Given the description of an element on the screen output the (x, y) to click on. 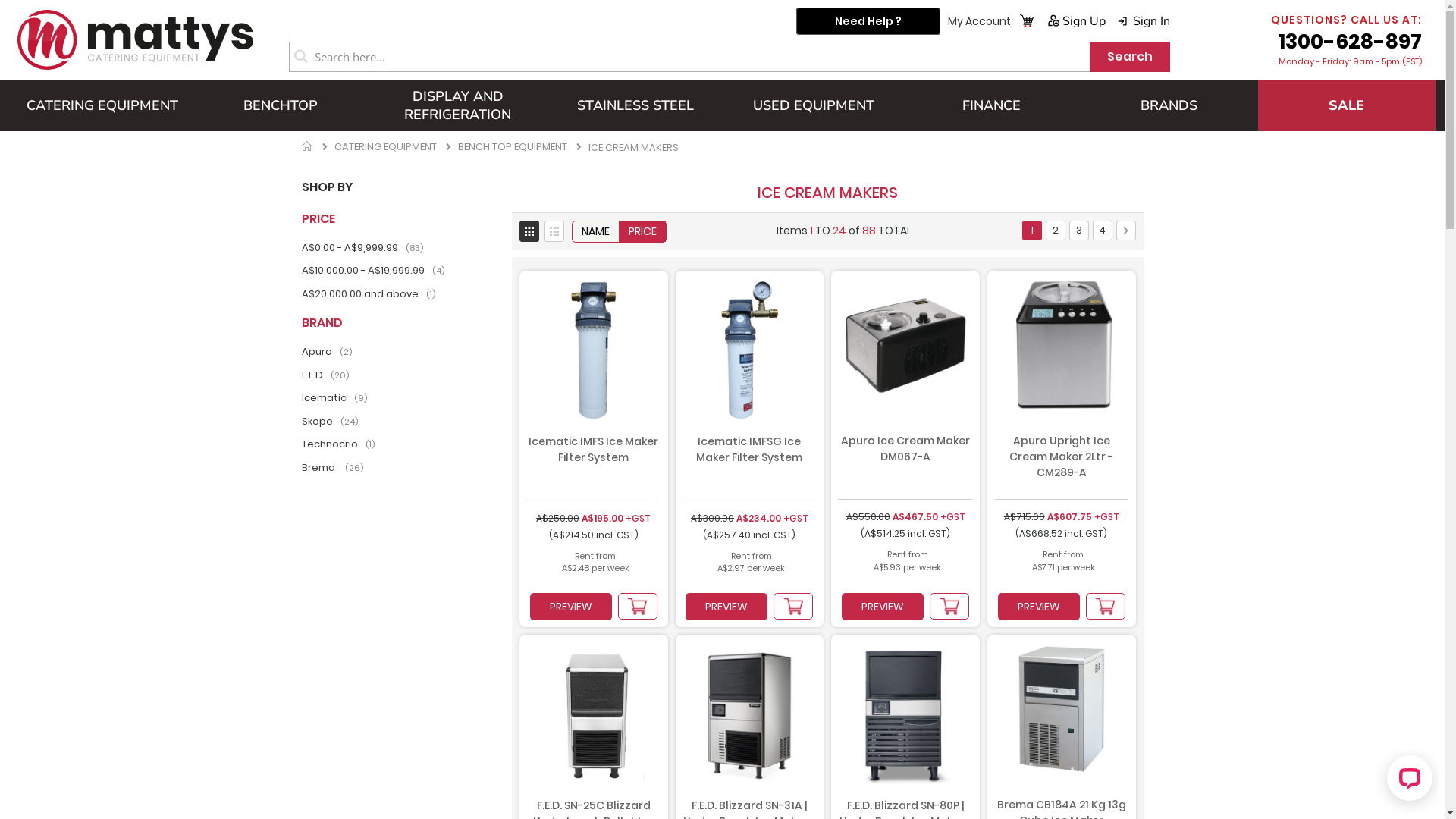
Page
4 Element type: text (1101, 229)
Apuro2
item Element type: text (328, 351)
Sign In Element type: text (1143, 21)
Search Element type: text (1129, 56)
Cart Element type: text (1025, 18)
PREVIEW Element type: text (570, 606)
A$20,000.00 and above1
item Element type: text (370, 293)
Page
Next Element type: text (1125, 229)
Apuro Upright Ice Cream Maker 2Ltr - CM289-A Element type: text (1061, 465)
Mattys Catering Equipment & Commercial Kitchen Supplies Element type: hover (135, 39)
PREVIEW Element type: text (882, 606)
F.E.D20
item Element type: text (326, 374)
PREVIEW Element type: text (726, 606)
Page
2 Element type: text (1054, 229)
Add to Cart Element type: hover (637, 606)
List Element type: text (554, 230)
USED EQUIPMENT Element type: text (813, 105)
STAINLESS STEEL Element type: text (635, 105)
NAME Element type: text (595, 231)
CATERING EQUIPMENT Element type: text (102, 105)
Icematic IMFSG Ice Maker Filter System Element type: text (749, 466)
BRANDS Element type: text (1168, 105)
Apuro Ice Cream Maker DM067-A Element type: text (905, 465)
Add to Cart Element type: hover (792, 606)
Need Help ? Element type: text (868, 20)
My Account Element type: text (978, 20)
HOME Element type: text (307, 146)
CATERING EQUIPMENT Element type: text (384, 146)
SALE Element type: text (1346, 105)
Add to Cart Element type: hover (949, 606)
LiveChat chat widget Element type: hover (1406, 780)
Skope24
item Element type: text (331, 421)
Page
3 Element type: text (1078, 229)
A$0.00 - A$9,999.9983
item Element type: text (363, 247)
Add to Cart Element type: hover (1105, 606)
BENCH TOP EQUIPMENT Element type: text (512, 146)
Icematic9
item Element type: text (335, 397)
DISPLAY AND REFRIGERATION Element type: text (457, 105)
Brema 26
item Element type: text (334, 467)
PREVIEW Element type: text (1038, 606)
FINANCE Element type: text (990, 105)
Sign Up Element type: text (1074, 21)
PRICE Element type: text (642, 231)
Technocrio1
item Element type: text (339, 443)
BENCHTOP Element type: text (279, 105)
Icematic IMFS Ice Maker Filter System Element type: text (593, 466)
A$10,000.00 - A$19,999.994
item Element type: text (374, 270)
